Given the description of an element on the screen output the (x, y) to click on. 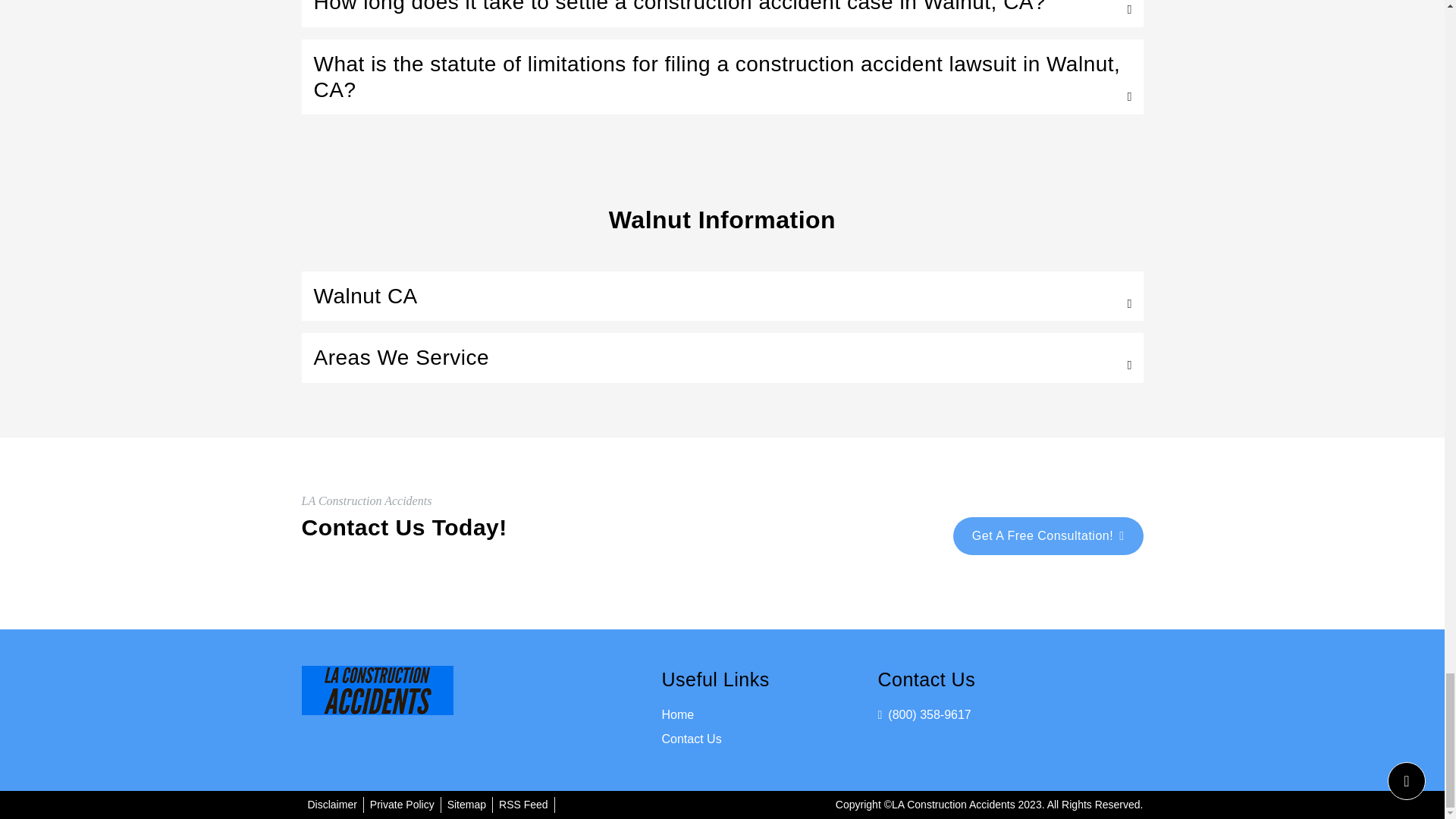
Get A Free Consultation! (1047, 535)
Areas We Service (722, 357)
Contact Us (690, 738)
Disclaimer (331, 804)
Sitemap (466, 804)
Private Policy (401, 804)
Walnut CA (722, 296)
RSS Feed (523, 804)
Home (677, 714)
